Given the description of an element on the screen output the (x, y) to click on. 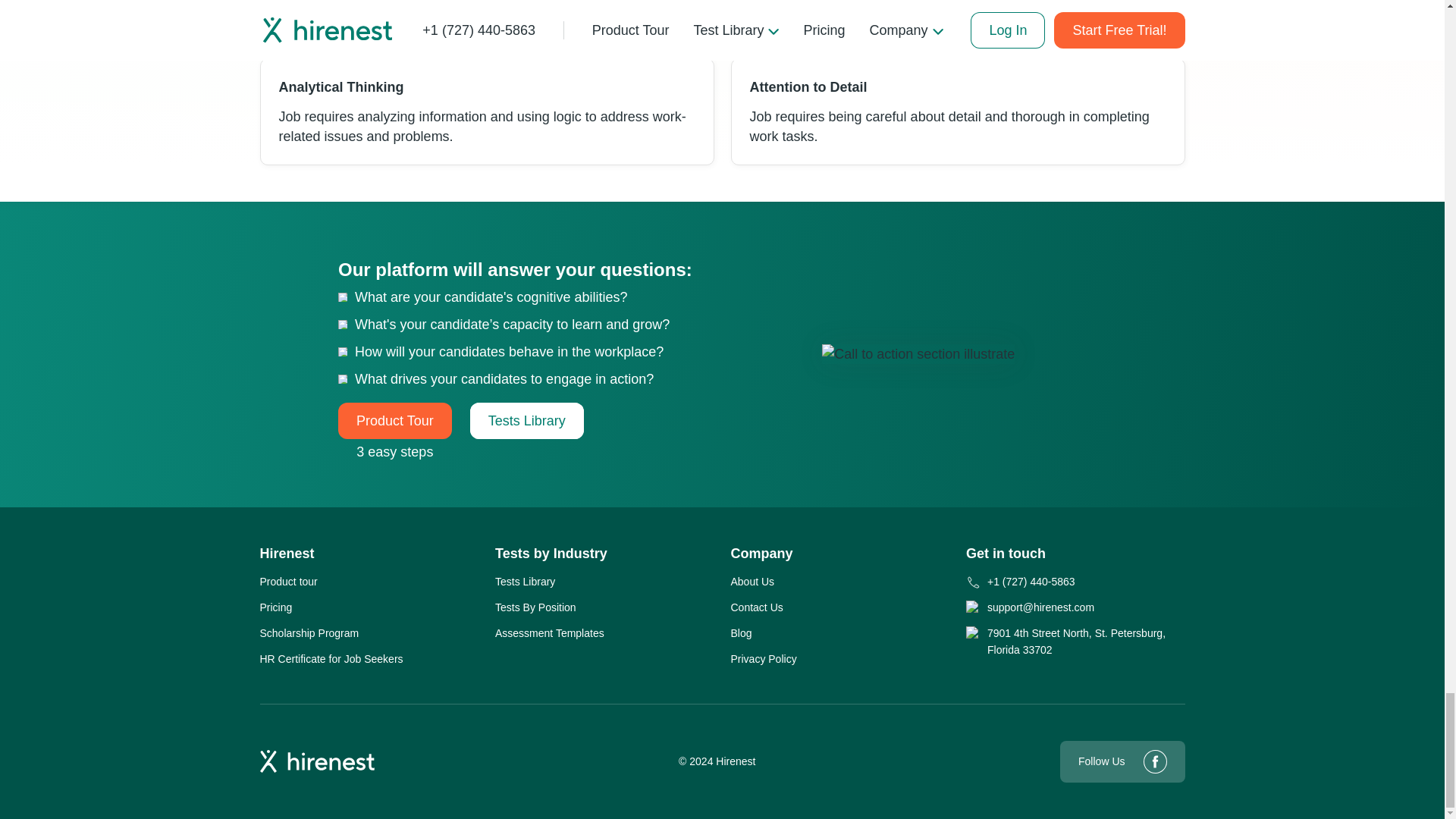
Privacy Policy (763, 658)
Product Tour (394, 420)
Tests Library (526, 420)
Tests by Industry (551, 553)
Pricing (275, 606)
Contact Us (756, 606)
Scholarship Program (308, 632)
Hirenest (286, 553)
Tests Library (524, 581)
Blog (741, 632)
